Given the description of an element on the screen output the (x, y) to click on. 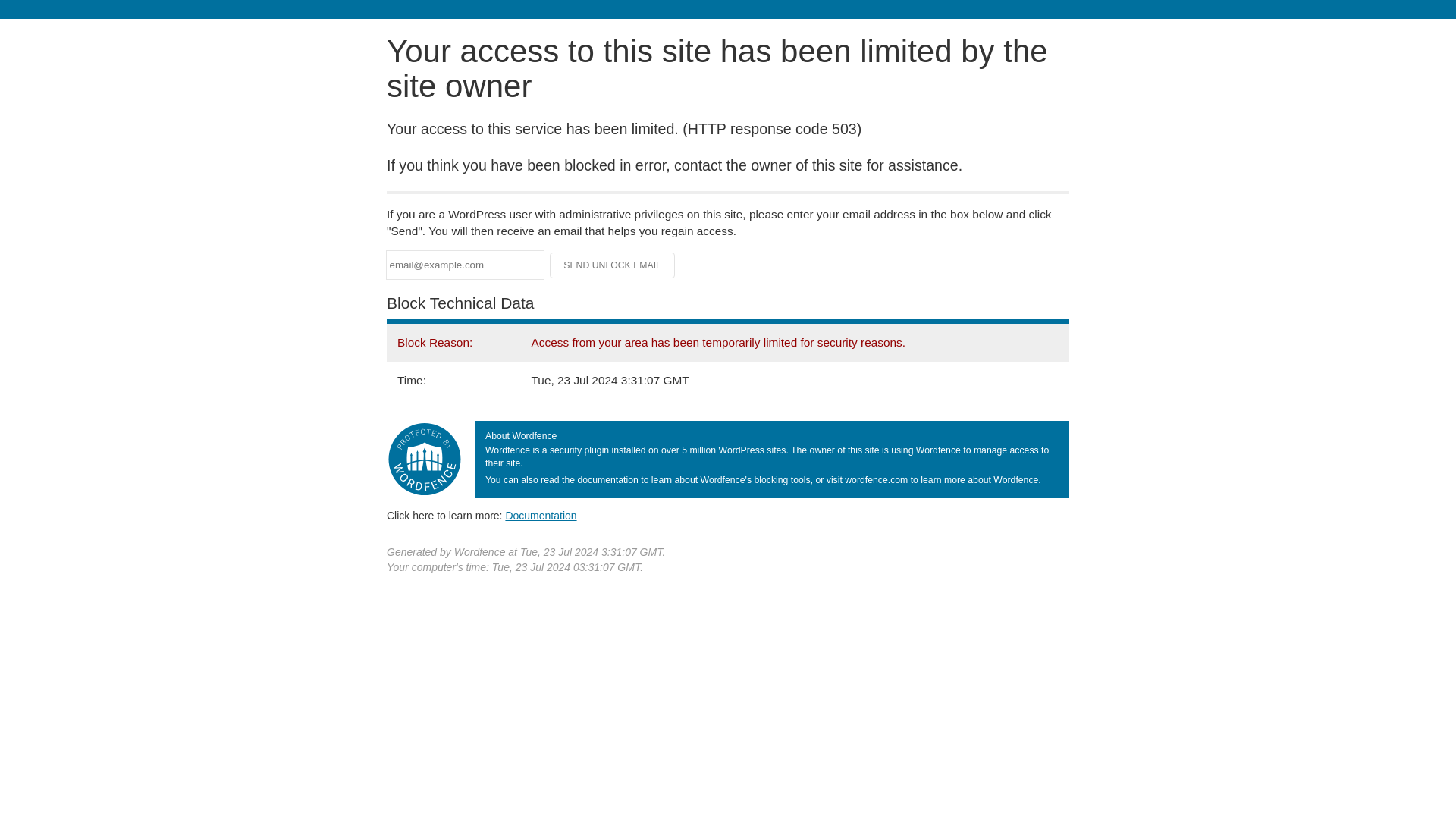
Send Unlock Email (612, 265)
Send Unlock Email (612, 265)
Documentation (540, 515)
